Given the description of an element on the screen output the (x, y) to click on. 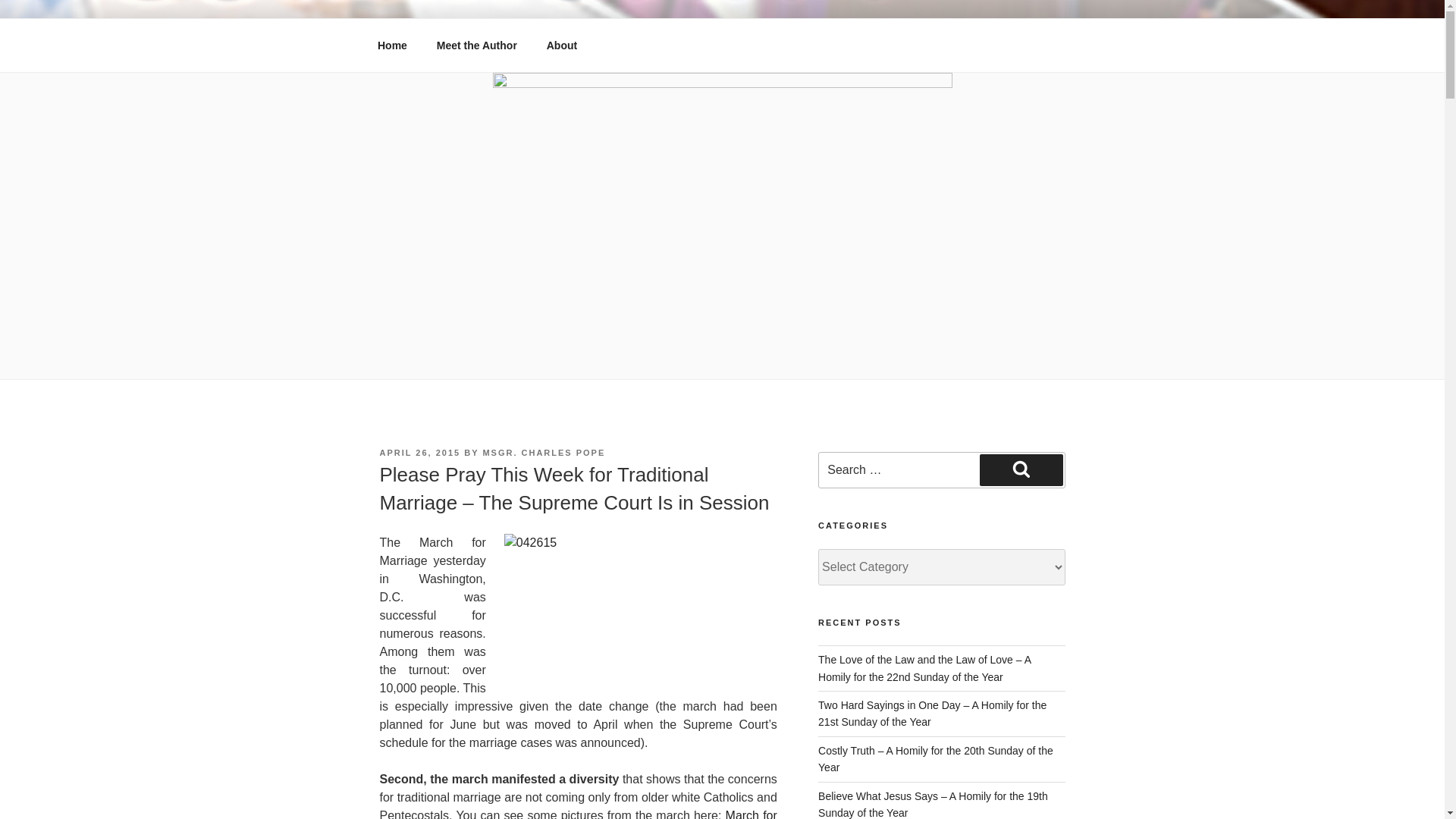
About (560, 45)
Meet the Author (476, 45)
Search (1020, 470)
March for Marriage 2015 (577, 814)
APRIL 26, 2015 (419, 452)
COMMUNITY IN MISSION (563, 52)
Home (392, 45)
MSGR. CHARLES POPE (543, 452)
